Given the description of an element on the screen output the (x, y) to click on. 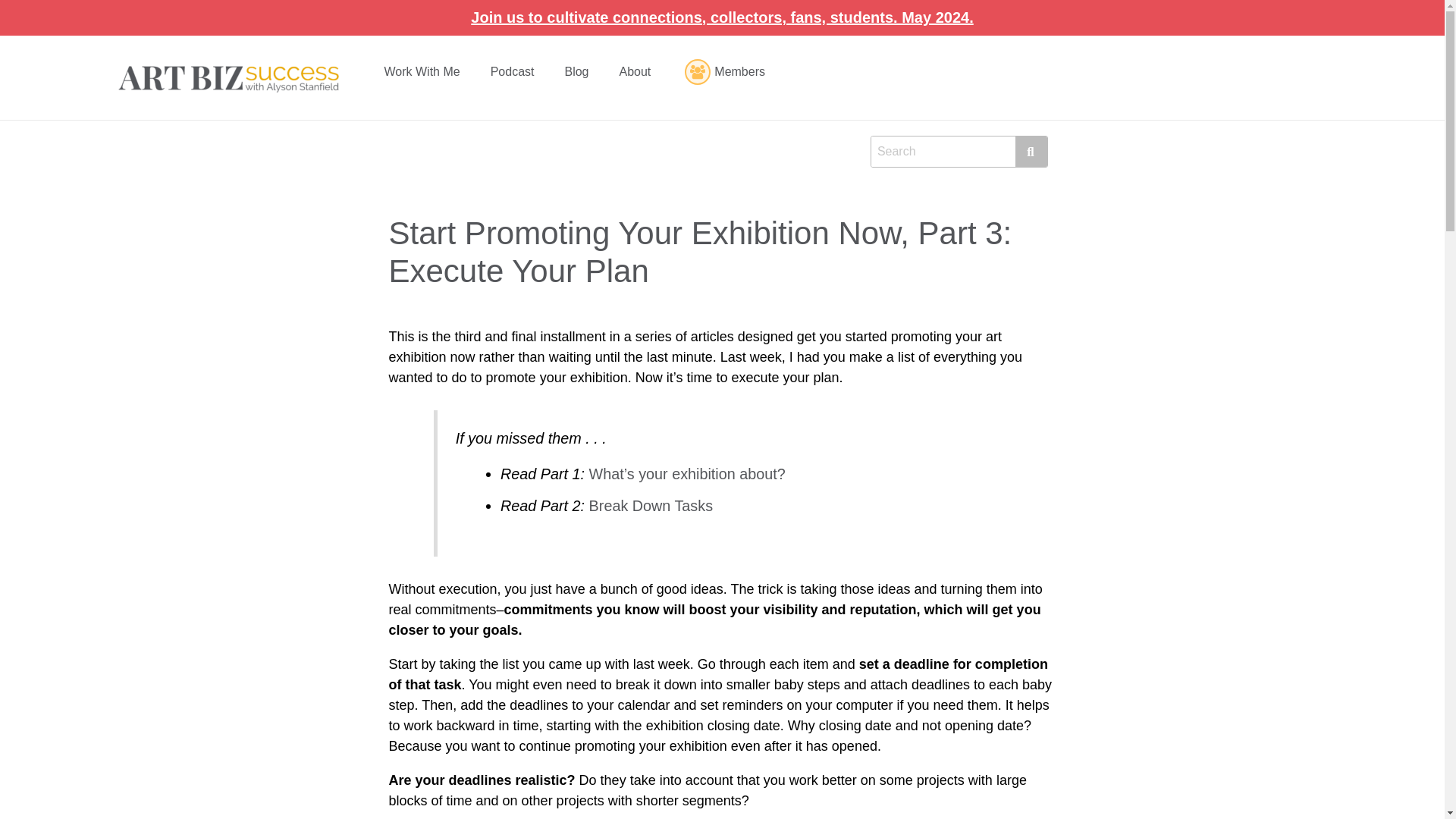
About (637, 71)
Podcast (516, 71)
Describe the contents of your art exhibit (687, 474)
Break Down Tasks for Promoting Your Art Exhibits (651, 505)
Work With Me (424, 71)
Blog (579, 71)
Members (725, 71)
Search (942, 151)
Break Down Tasks (651, 505)
